Given the description of an element on the screen output the (x, y) to click on. 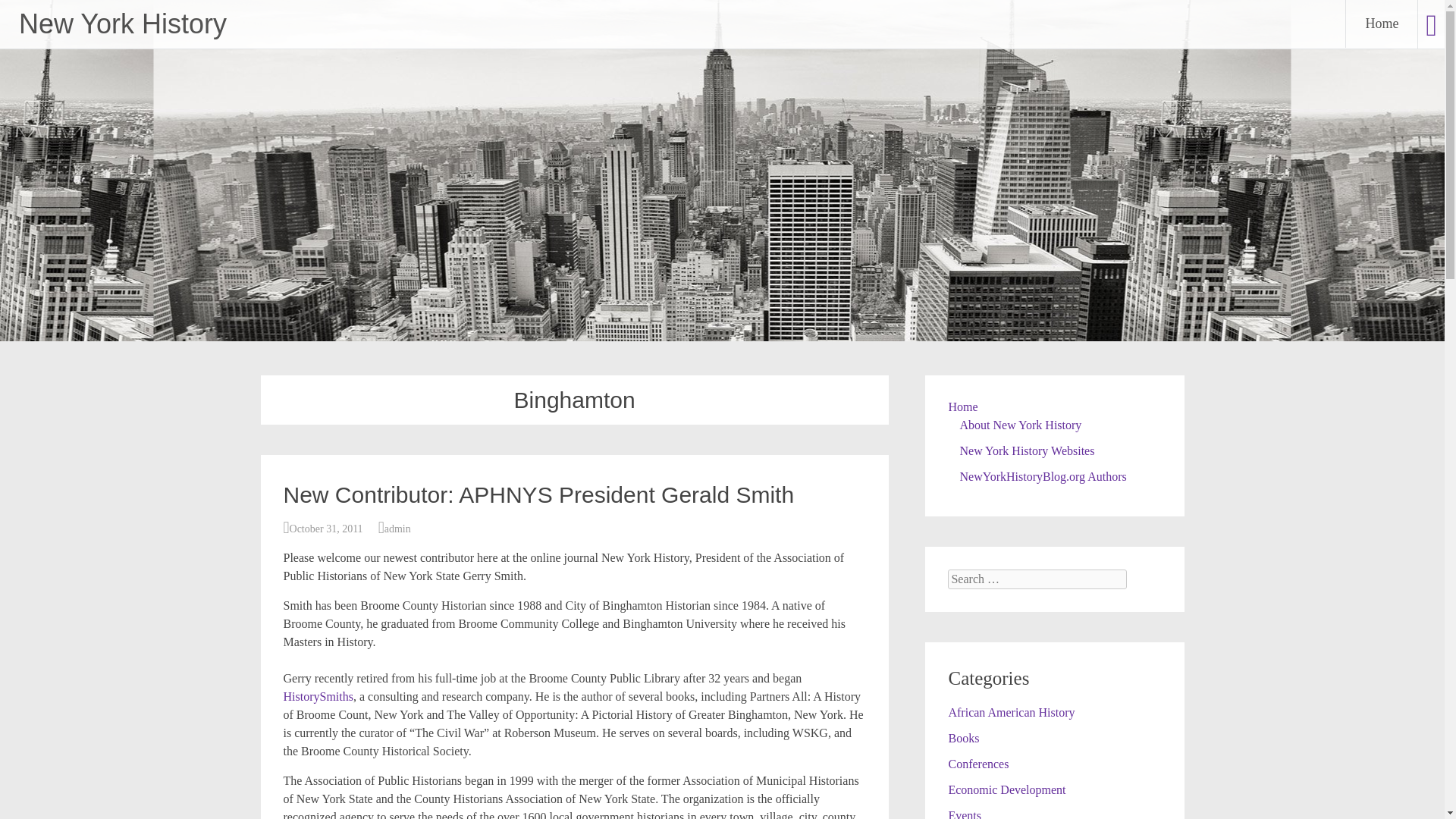
NewYorkHistoryBlog.org Authors (1042, 476)
Conferences (978, 763)
New Contributor: APHNYS President Gerald Smith (538, 494)
New York History (122, 23)
About New York History (1020, 424)
New York History Websites (1026, 450)
Economic Development (1006, 789)
Home (1380, 23)
Events (964, 814)
New York History (122, 23)
October 31, 2011 (325, 528)
Books (962, 738)
African American History (1010, 712)
HistorySmiths (318, 696)
admin (397, 528)
